Given the description of an element on the screen output the (x, y) to click on. 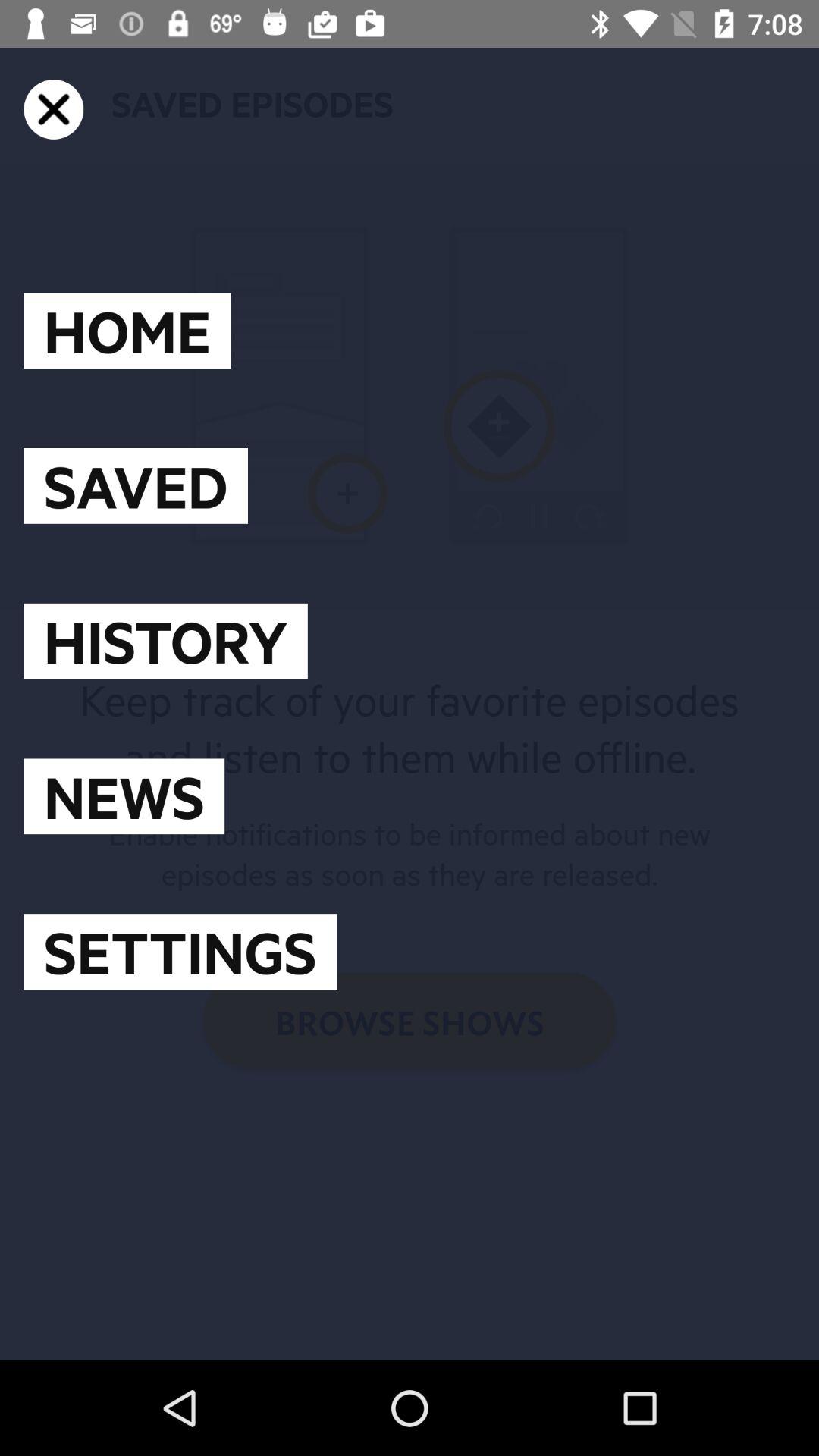
choose the history (165, 641)
